Given the description of an element on the screen output the (x, y) to click on. 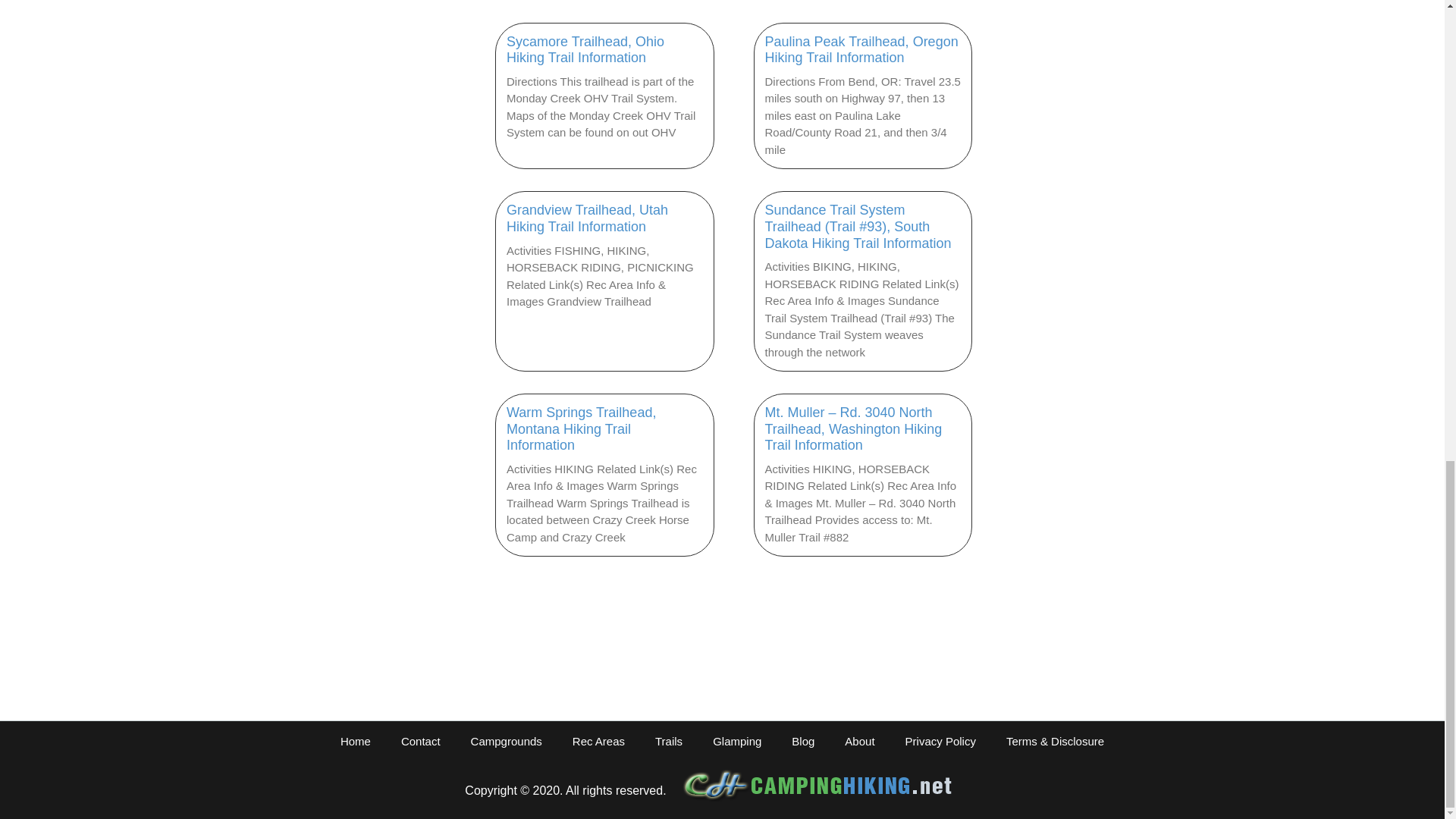
Paulina Peak Trailhead, Oregon Hiking Trail Information (861, 50)
Campgrounds (506, 741)
Warm Springs Trailhead, Montana Hiking Trail Information (581, 428)
Rec Areas (598, 741)
Privacy Policy (940, 741)
Glamping (736, 741)
About (859, 741)
Grandview Trailhead, Utah Hiking Trail Information (587, 218)
Sycamore Trailhead, Ohio Hiking Trail Information (584, 50)
Contact (420, 741)
